Given the description of an element on the screen output the (x, y) to click on. 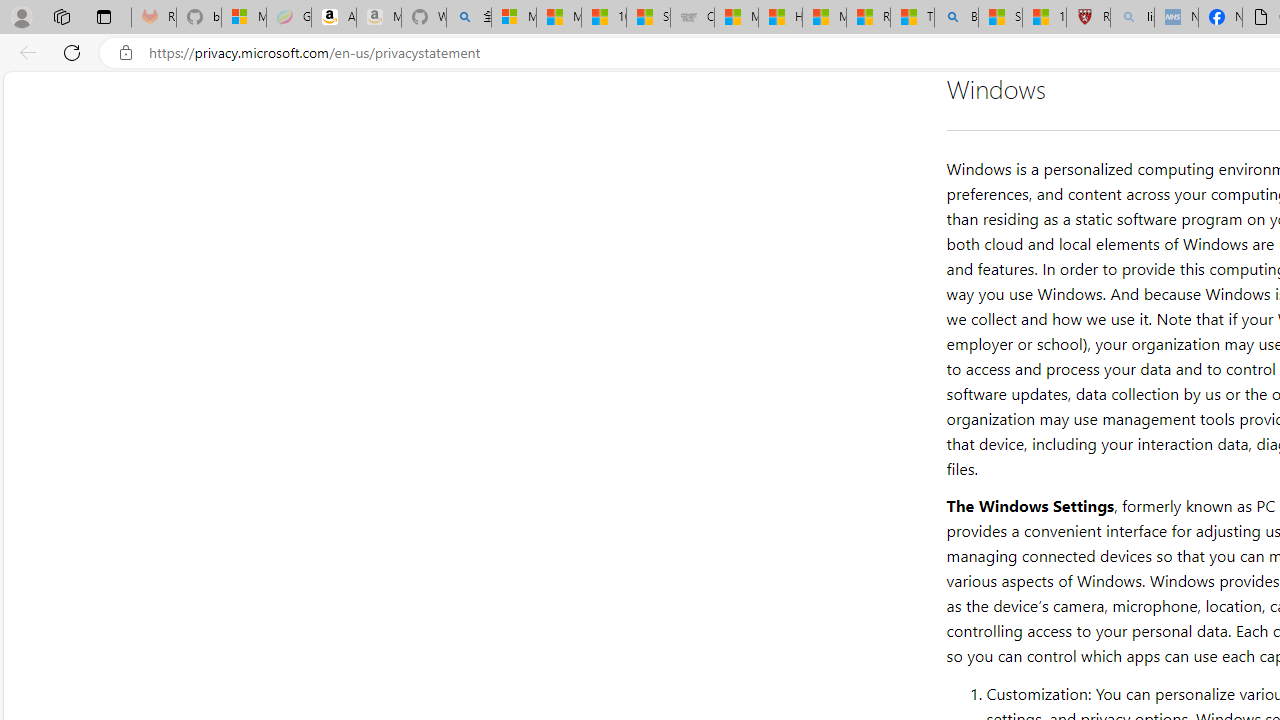
Robert H. Shmerling, MD - Harvard Health (1088, 17)
12 Popular Science Lies that Must be Corrected (1044, 17)
Stocks - MSN (648, 17)
Microsoft-Report a Concern to Bing (243, 17)
Recipes - MSN (868, 17)
Science - MSN (1000, 17)
